Given the description of an element on the screen output the (x, y) to click on. 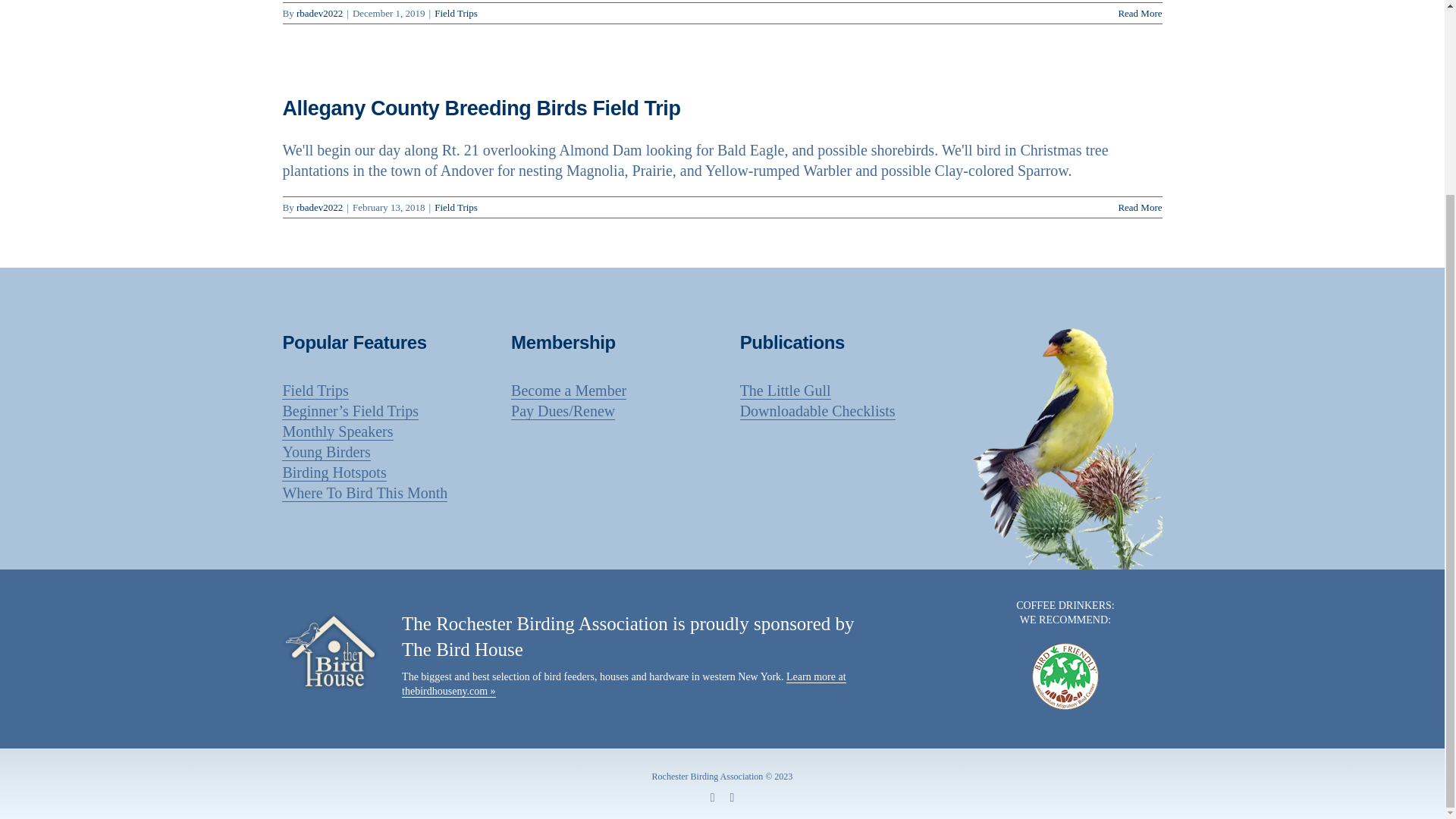
birdfriendlycoffeelogo (1065, 676)
birdhouse-logo-150 (330, 651)
Posts by rbadev2022 (319, 12)
Posts by rbadev2022 (319, 206)
